Given the description of an element on the screen output the (x, y) to click on. 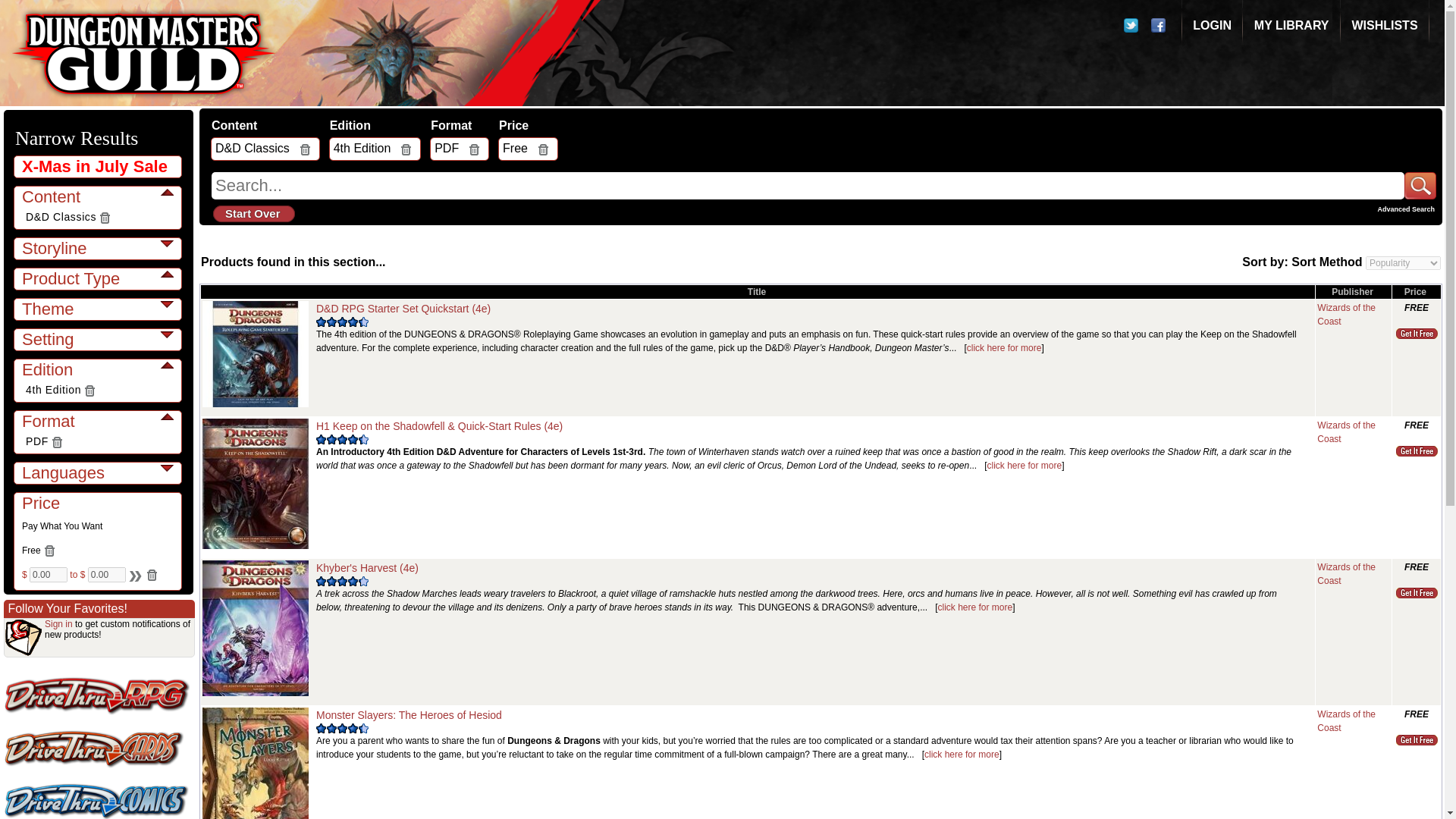
 Search  (133, 574)
DMsGuild Logo (144, 53)
Remove Filter (56, 441)
Facebook (1161, 29)
Twitter (1134, 29)
X-Mas in July Sale (98, 166)
MY LIBRARY (1291, 24)
Remove Filter (49, 550)
Remove Filter (90, 390)
0.00 (47, 574)
WISHLISTS (1383, 24)
Remove Filter (151, 574)
4th Edition (53, 389)
Remove Filter (104, 217)
0.00 (106, 574)
